Given the description of an element on the screen output the (x, y) to click on. 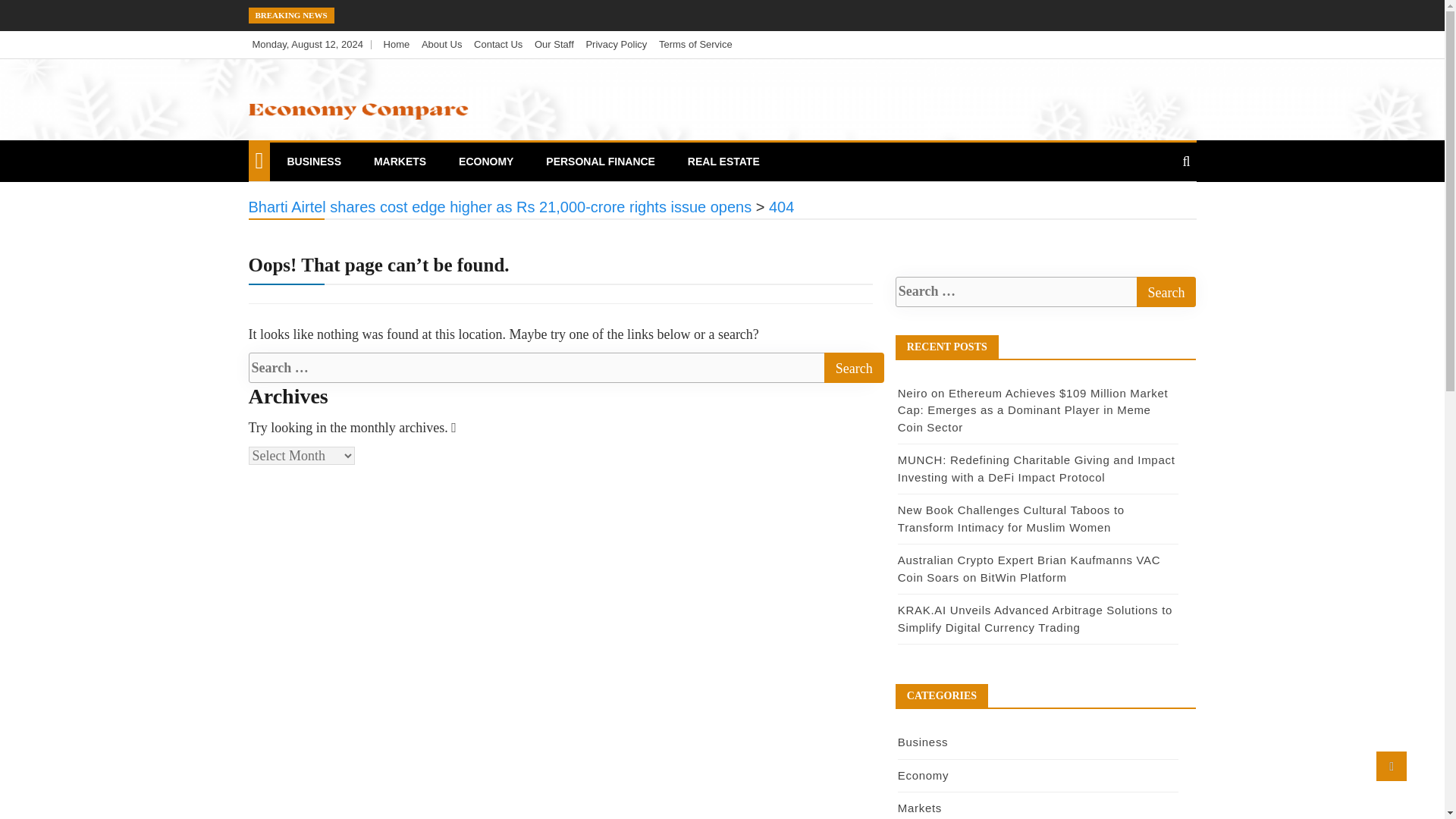
Business (922, 741)
ECONOMY (485, 161)
Our Staff (553, 43)
BUSINESS (313, 161)
MARKETS (400, 161)
PERSONAL FINANCE (600, 161)
Go to 404. (780, 207)
